Given the description of an element on the screen output the (x, y) to click on. 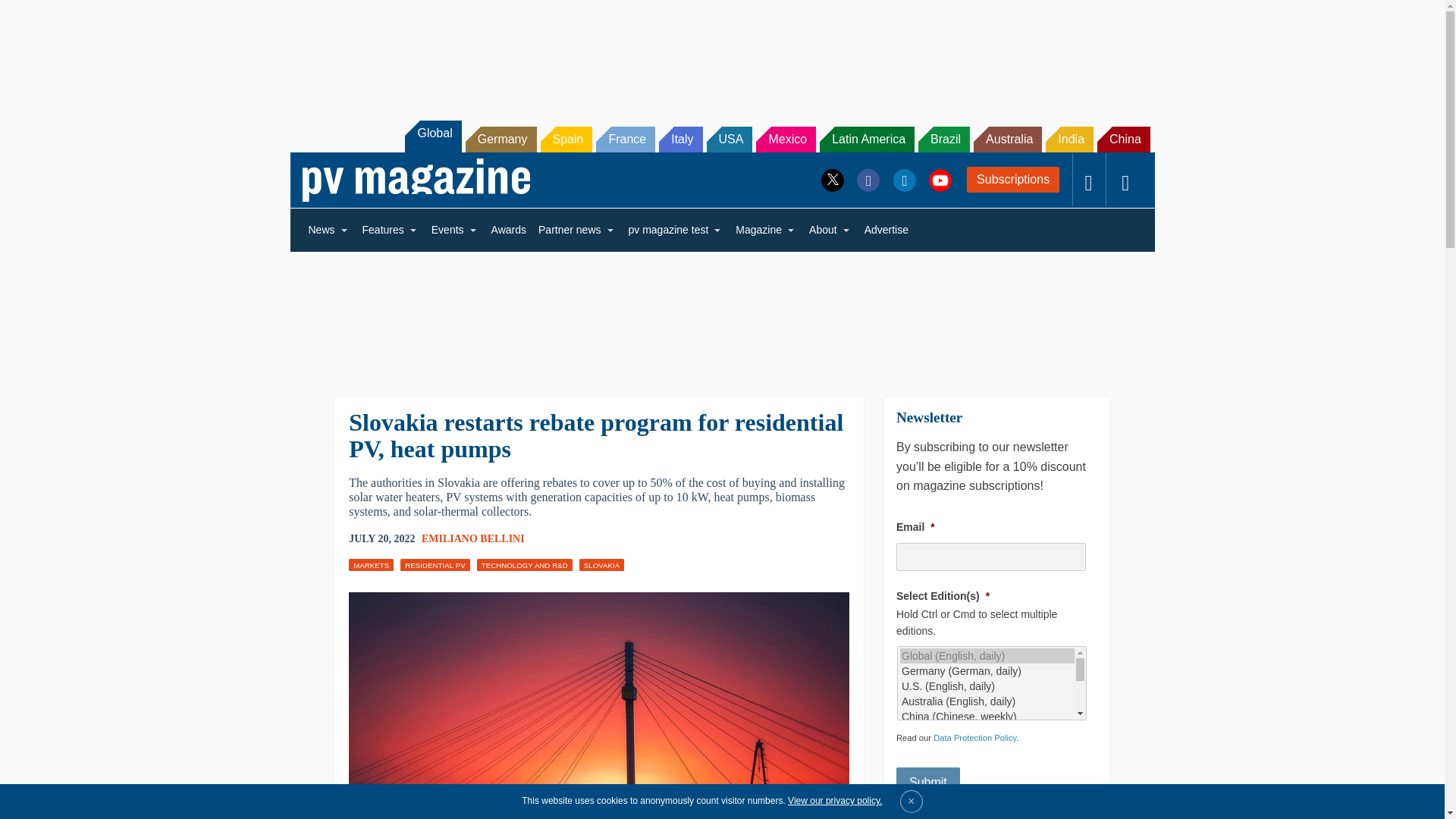
pv magazine - Photovoltaics Markets and Technology (415, 179)
Mexico (785, 139)
Italy (680, 139)
Latin America (866, 139)
Subscriptions (1012, 179)
Posts by Emiliano Bellini (473, 538)
3rd party ad content (721, 314)
3rd party ad content (1199, 353)
Wednesday, July 20, 2022, 5:01 pm (381, 538)
Brazil (943, 139)
pv magazine - Photovoltaics Markets and Technology (415, 180)
3rd party ad content (1199, 707)
3rd party ad content (243, 707)
Global (432, 136)
Spain (566, 139)
